Given the description of an element on the screen output the (x, y) to click on. 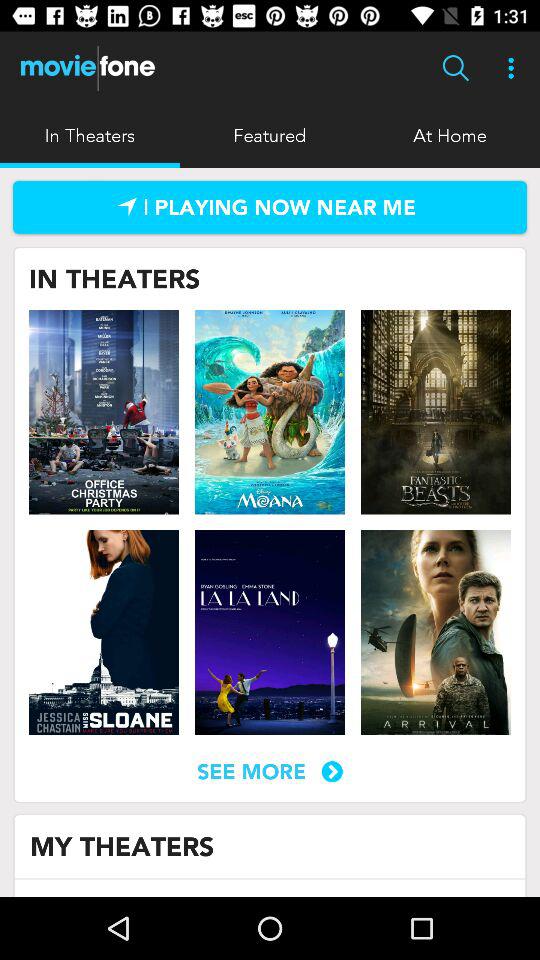
view details about this movie (104, 632)
